Given the description of an element on the screen output the (x, y) to click on. 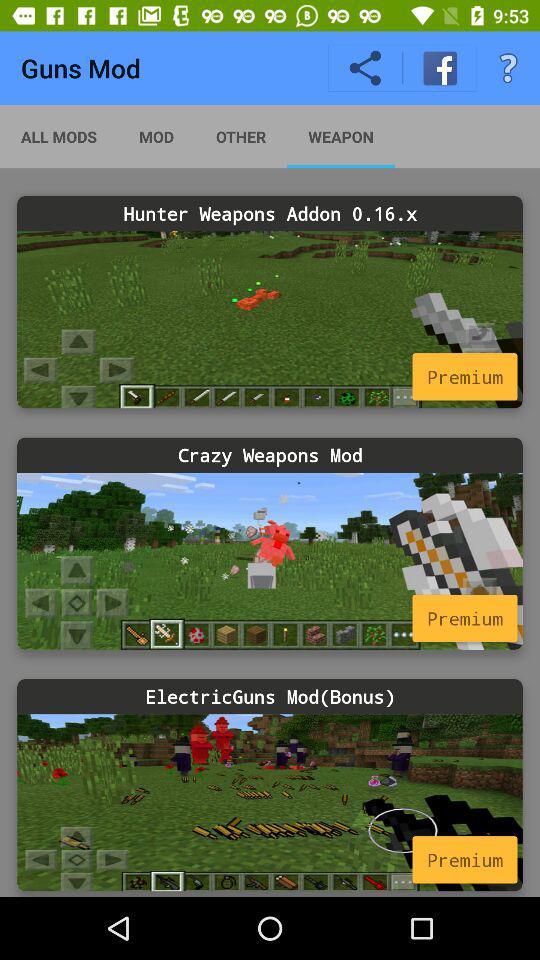
select the game (269, 319)
